Given the description of an element on the screen output the (x, y) to click on. 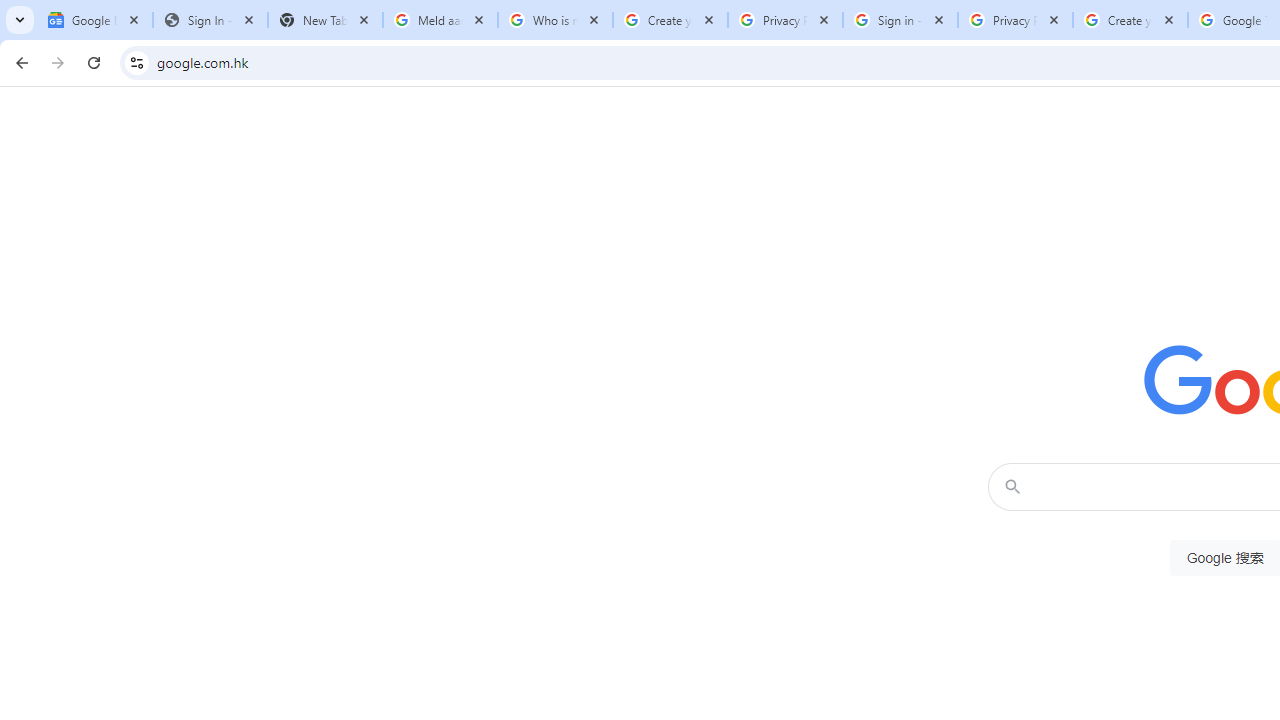
Sign In - USA TODAY (209, 20)
Who is my administrator? - Google Account Help (555, 20)
New Tab (324, 20)
Create your Google Account (1129, 20)
Google News (95, 20)
